Given the description of an element on the screen output the (x, y) to click on. 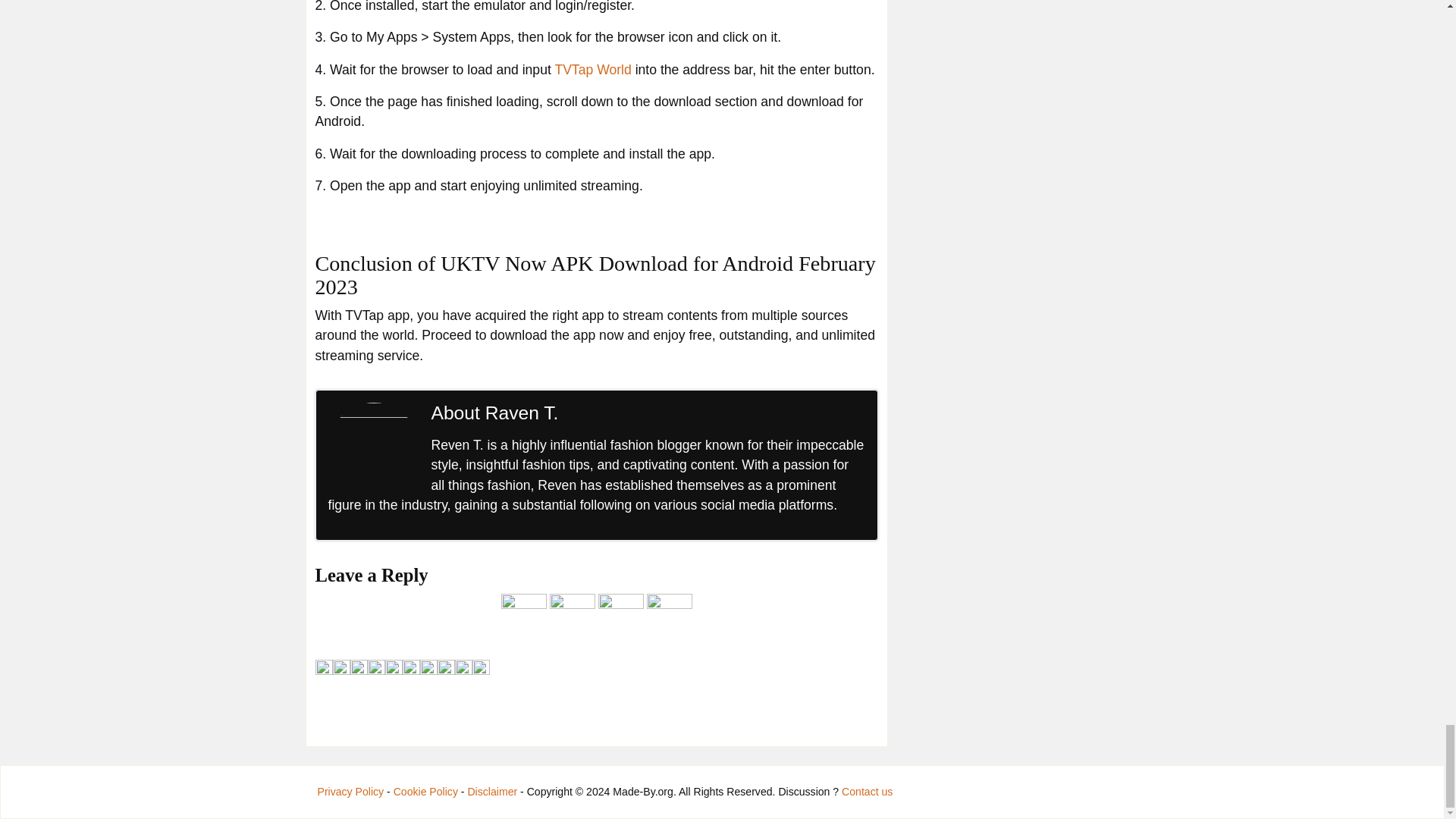
TVTap World (592, 69)
